Given the description of an element on the screen output the (x, y) to click on. 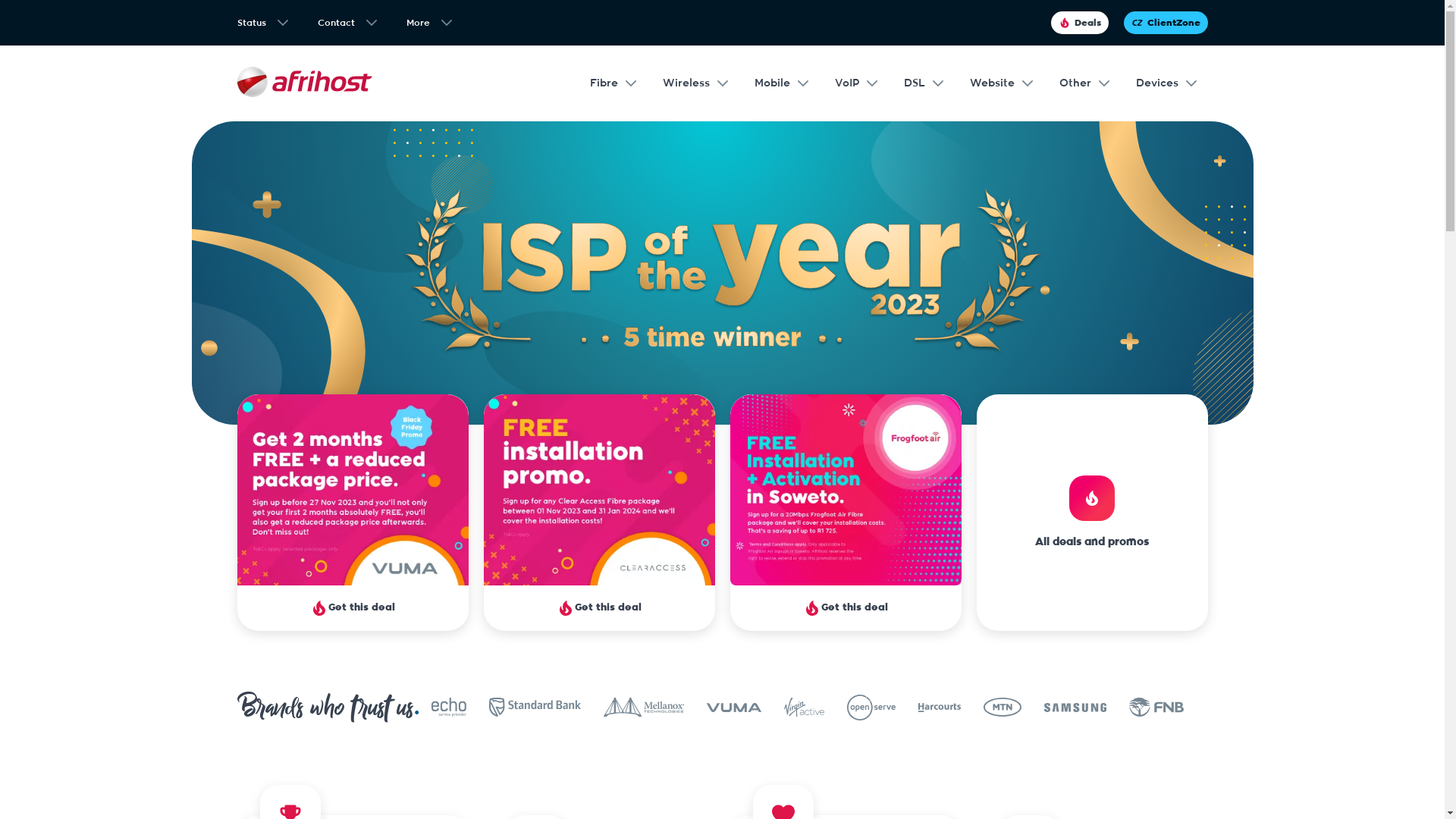
Get this deal Element type: text (351, 512)
Deals Element type: text (1079, 22)
More Element type: text (428, 26)
Get this deal Element type: text (844, 512)
Get this deal Element type: text (599, 512)
Status Element type: text (261, 26)
Contact Element type: text (345, 26)
All deals and promos Element type: text (1092, 512)
ClientZone Element type: text (1165, 22)
